Given the description of an element on the screen output the (x, y) to click on. 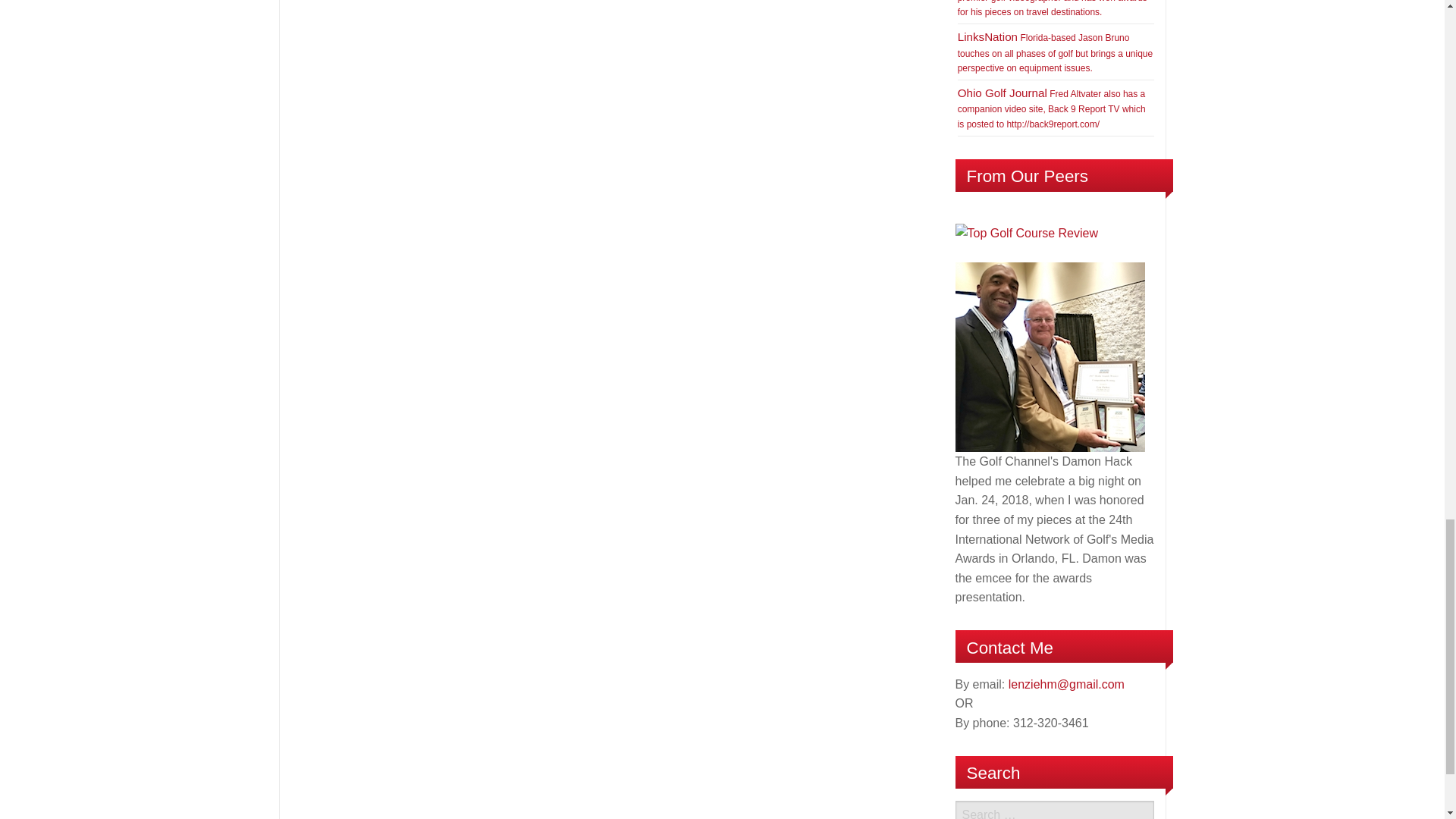
Ohio Golf Journal (1002, 92)
LinksNation (987, 36)
